Given the description of an element on the screen output the (x, y) to click on. 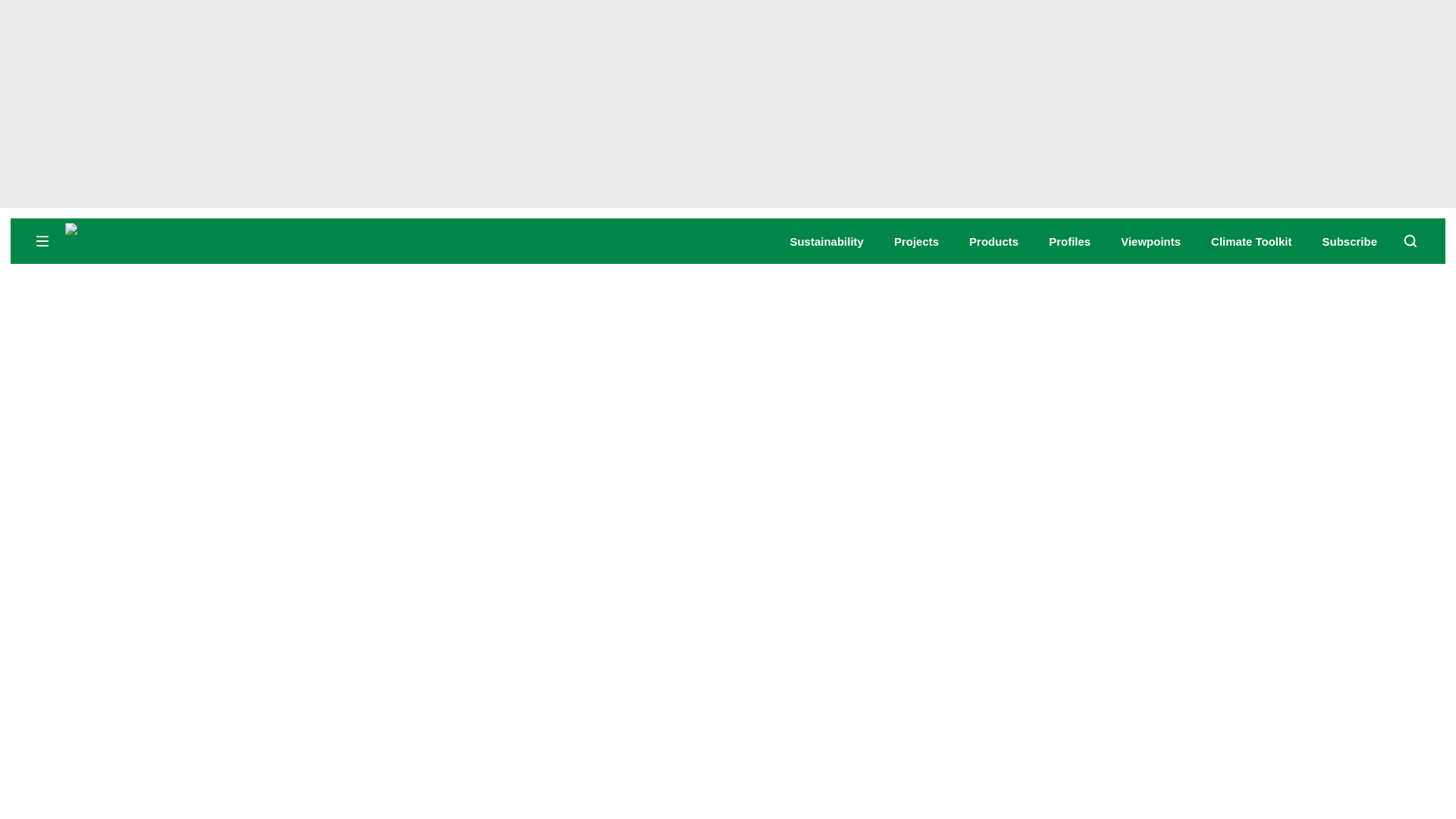
Profiles (1069, 241)
Subscribe (1349, 241)
METROPOLIS (181, 240)
Climate Toolkit (1251, 241)
Sustainability (826, 241)
Projects (916, 241)
Products (993, 241)
Viewpoints (1150, 241)
